Given the description of an element on the screen output the (x, y) to click on. 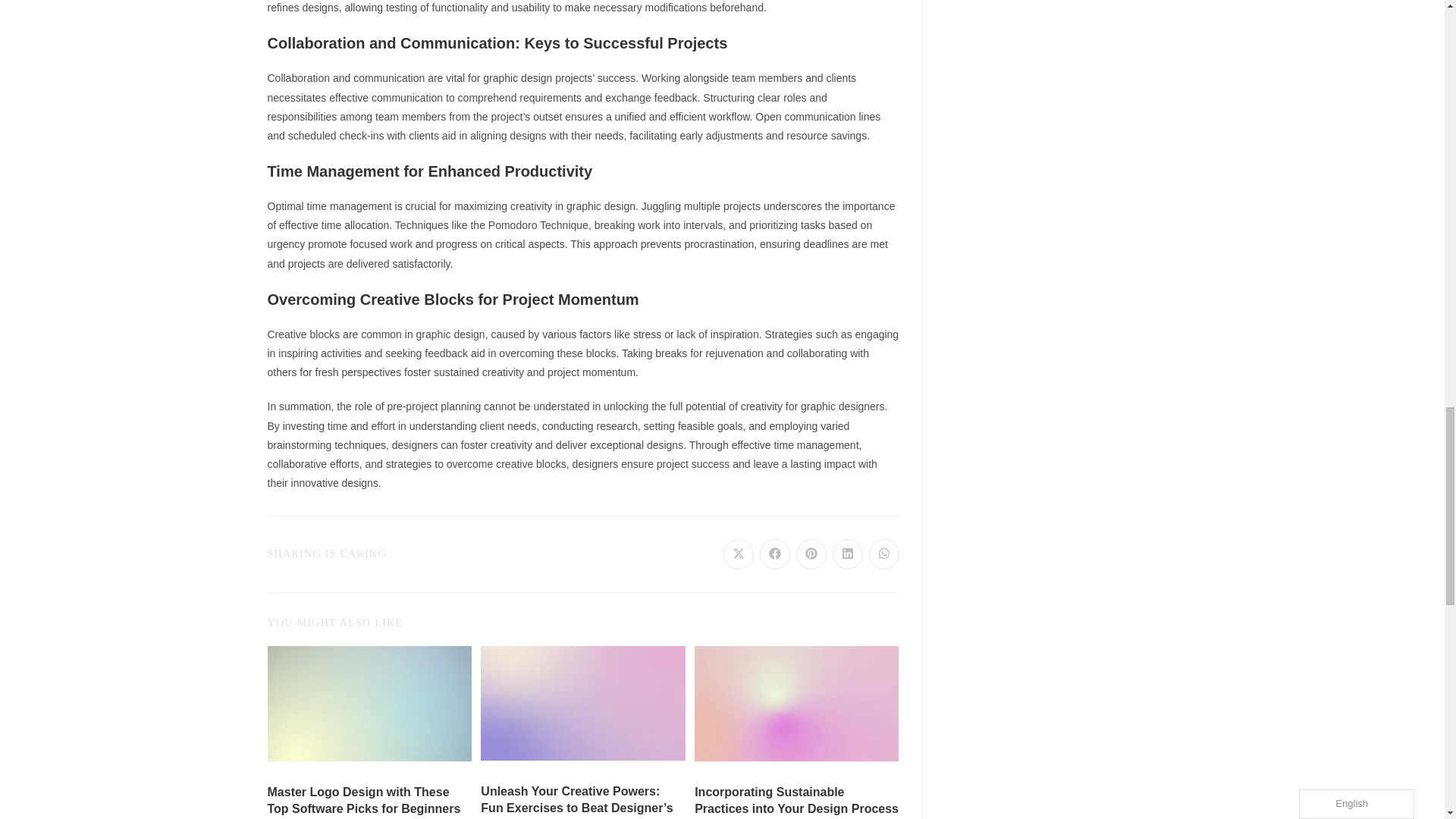
Opens in a new window (811, 553)
Opens in a new window (738, 553)
Opens in a new window (775, 553)
